Given the description of an element on the screen output the (x, y) to click on. 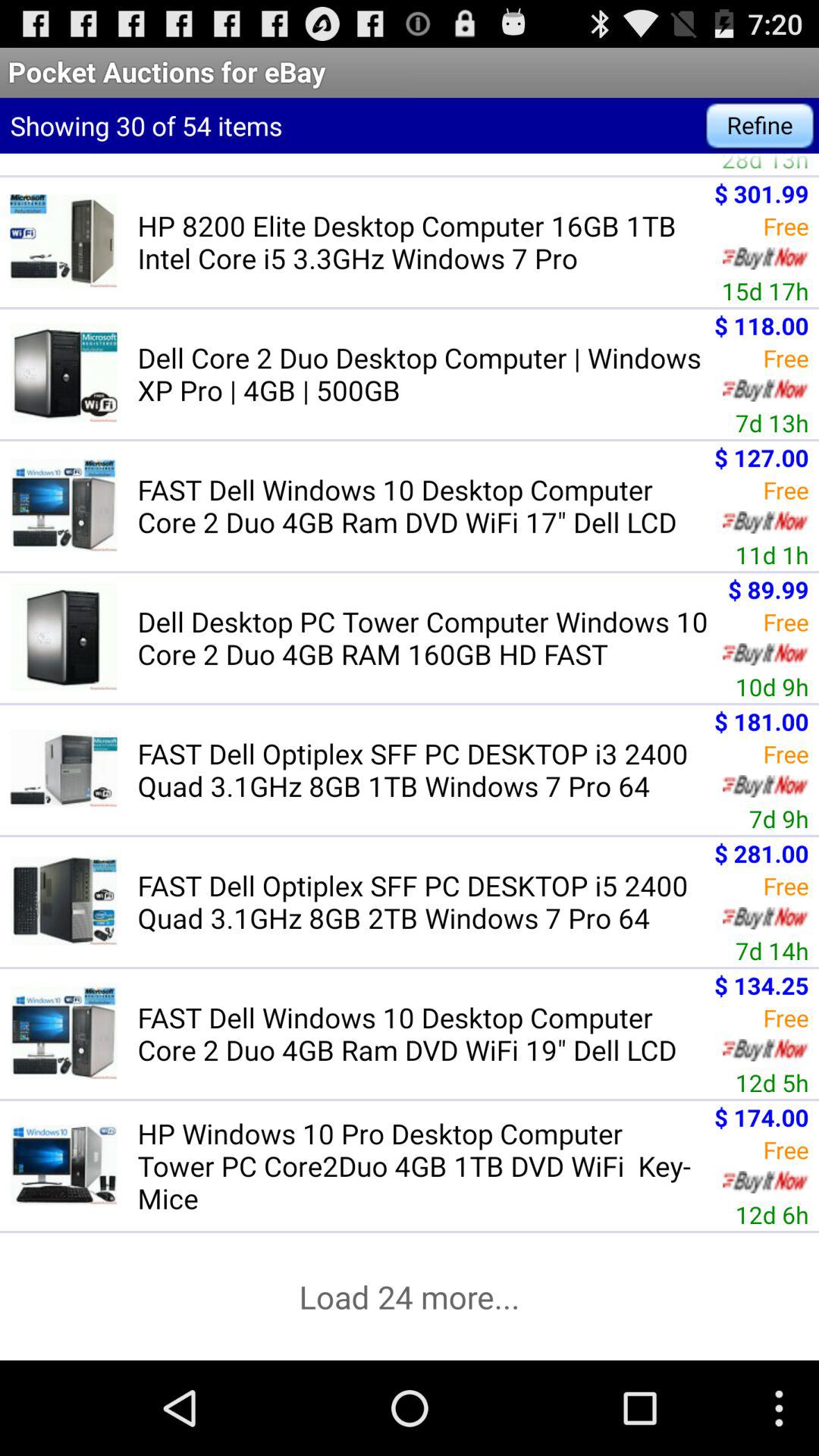
scroll until the 7d 13h icon (771, 422)
